Given the description of an element on the screen output the (x, y) to click on. 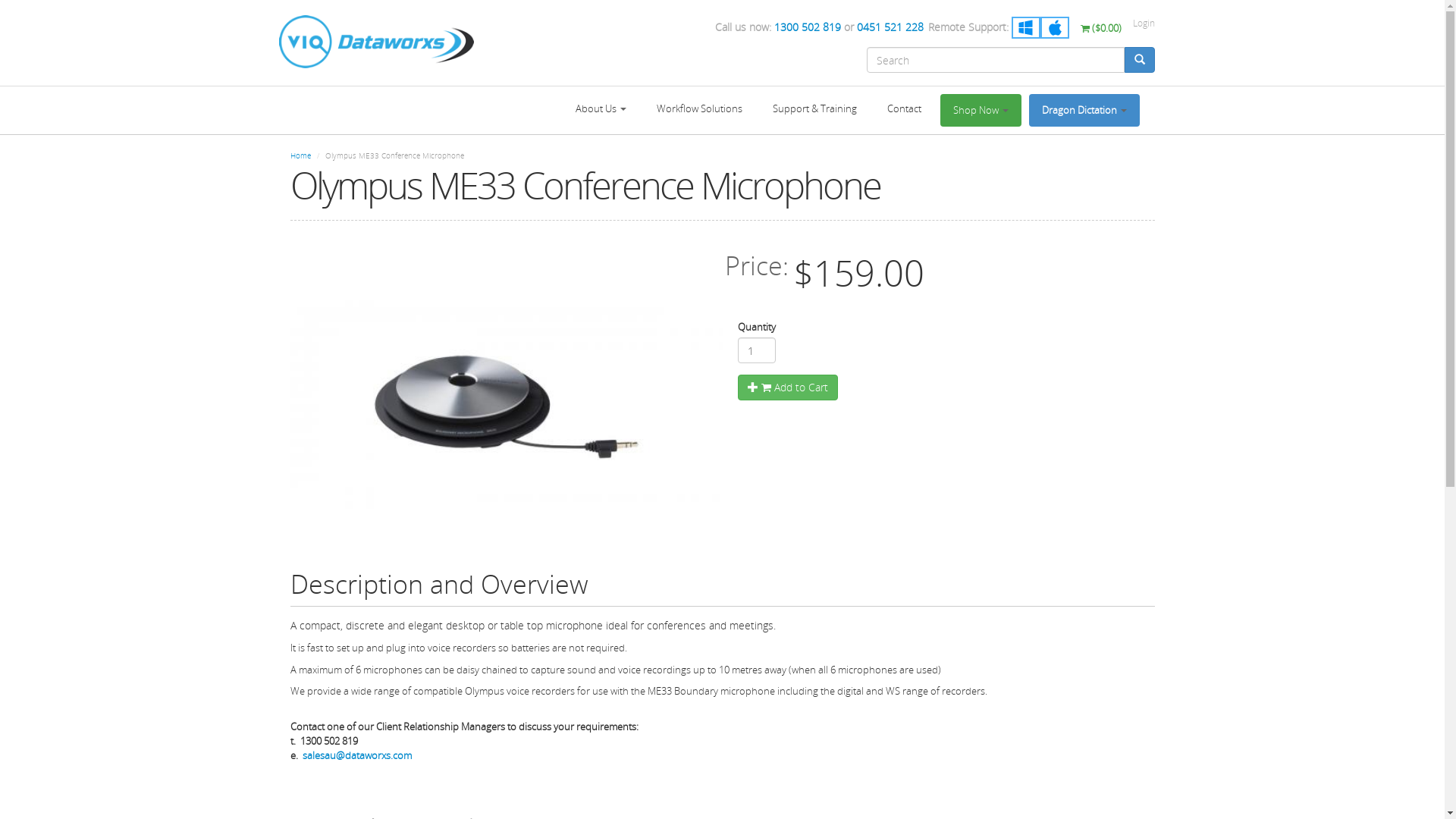
salesau@dataworxs.com Element type: text (356, 754)
Contact Element type: text (903, 108)
Olympus ME33 Conference Microphone  Element type: hover (505, 407)
0451 521 228 Element type: text (889, 26)
About Us Element type: text (600, 108)
Home Element type: hover (376, 41)
Skip to main content Element type: text (0, 0)
Enter the terms you wish to search for. Element type: hover (994, 59)
Home Element type: text (299, 155)
Add to Cart Element type: text (787, 387)
Login Element type: text (1143, 22)
Shop Now Element type: text (980, 110)
Support & Training Element type: text (814, 108)
Search Element type: text (1154, 73)
1300 502 819 Element type: text (806, 26)
($0.00) Element type: text (1100, 28)
Workflow Solutions Element type: text (698, 108)
Dragon Dictation Element type: text (1083, 110)
